Given the description of an element on the screen output the (x, y) to click on. 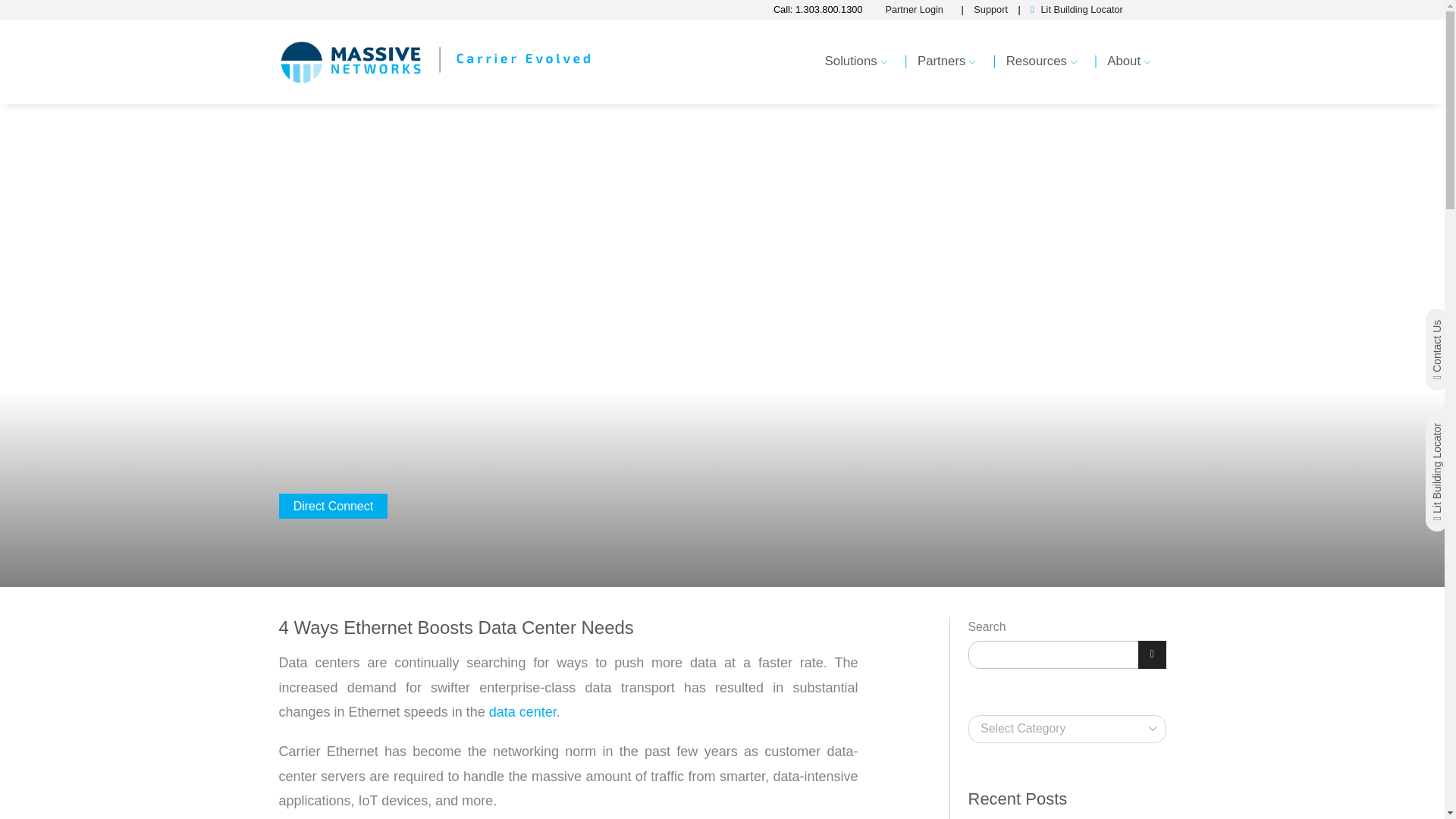
Partners (947, 69)
Lit Building Locator (1081, 9)
Partner Login (921, 9)
Solutions (855, 69)
Support (990, 9)
Resources (1041, 69)
